Given the description of an element on the screen output the (x, y) to click on. 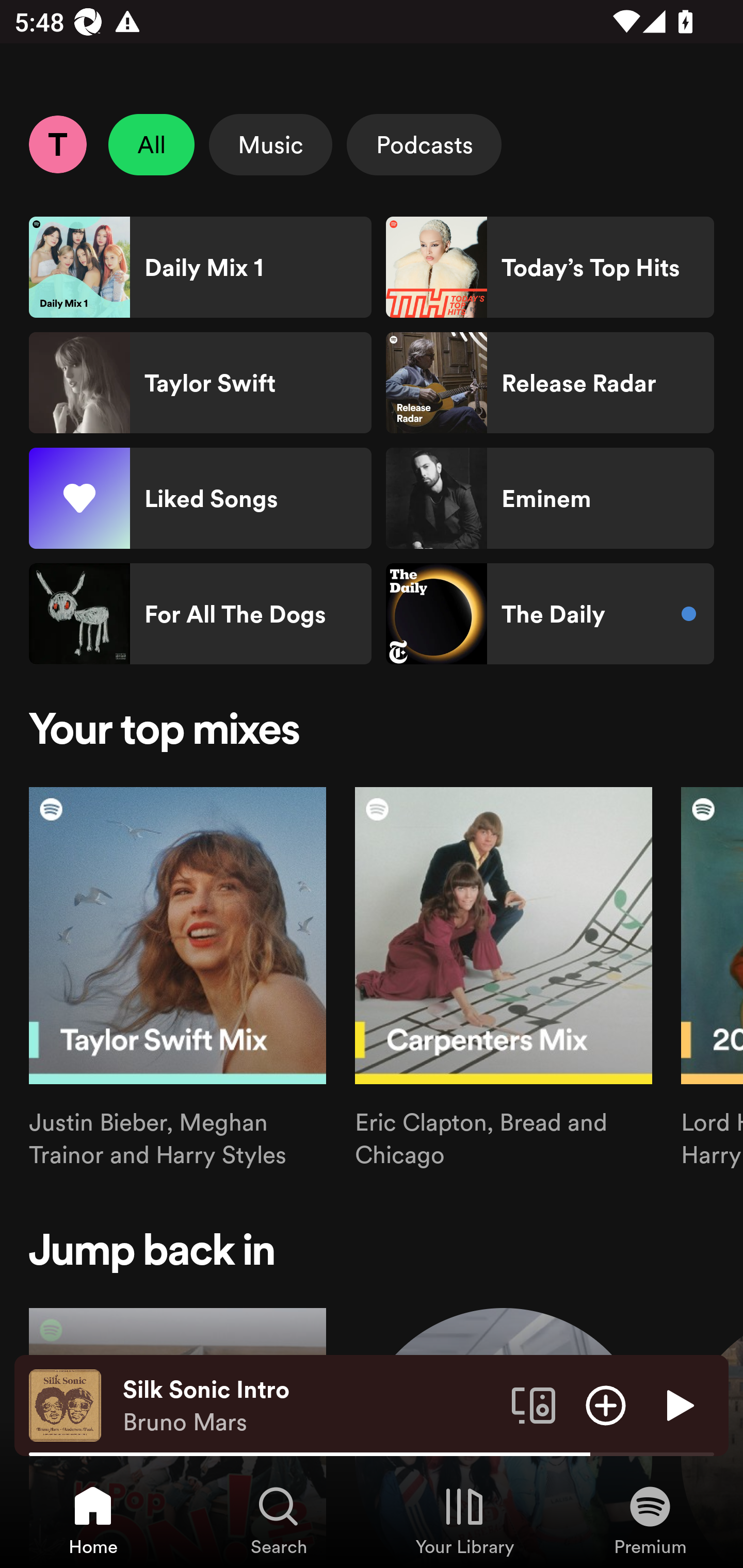
Profile (57, 144)
All Unselect All (151, 144)
Music Select Music (270, 144)
Podcasts Select Podcasts (423, 144)
Daily Mix 1 Shortcut Daily Mix 1 (199, 267)
Today’s Top Hits Shortcut Today’s Top Hits (549, 267)
Taylor Swift Shortcut Taylor Swift (199, 382)
Release Radar Shortcut Release Radar (549, 382)
Liked Songs Shortcut Liked Songs (199, 498)
Eminem Shortcut Eminem (549, 498)
For All The Dogs Shortcut For All The Dogs (199, 613)
The Daily Shortcut The Daily New content (549, 613)
Silk Sonic Intro Bruno Mars (309, 1405)
The cover art of the currently playing track (64, 1404)
Connect to a device. Opens the devices menu (533, 1404)
Add item (605, 1404)
Play (677, 1404)
Home, Tab 1 of 4 Home Home (92, 1519)
Search, Tab 2 of 4 Search Search (278, 1519)
Your Library, Tab 3 of 4 Your Library Your Library (464, 1519)
Premium, Tab 4 of 4 Premium Premium (650, 1519)
